Given the description of an element on the screen output the (x, y) to click on. 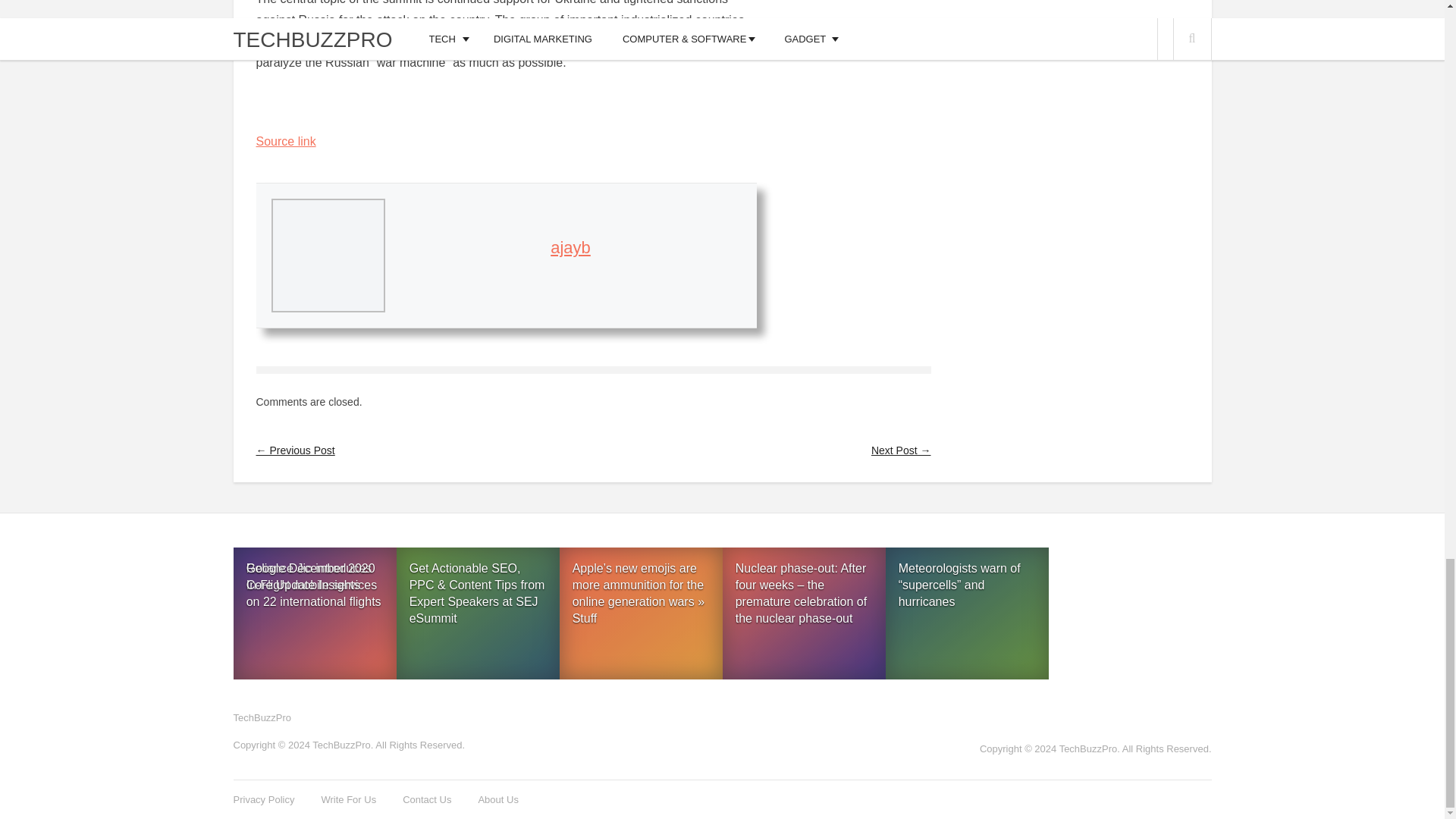
Google December 2020 Core Update Insights (314, 615)
Google December 2020 Core Update Insights (314, 613)
Source link (285, 141)
ajayb (570, 247)
